Given the description of an element on the screen output the (x, y) to click on. 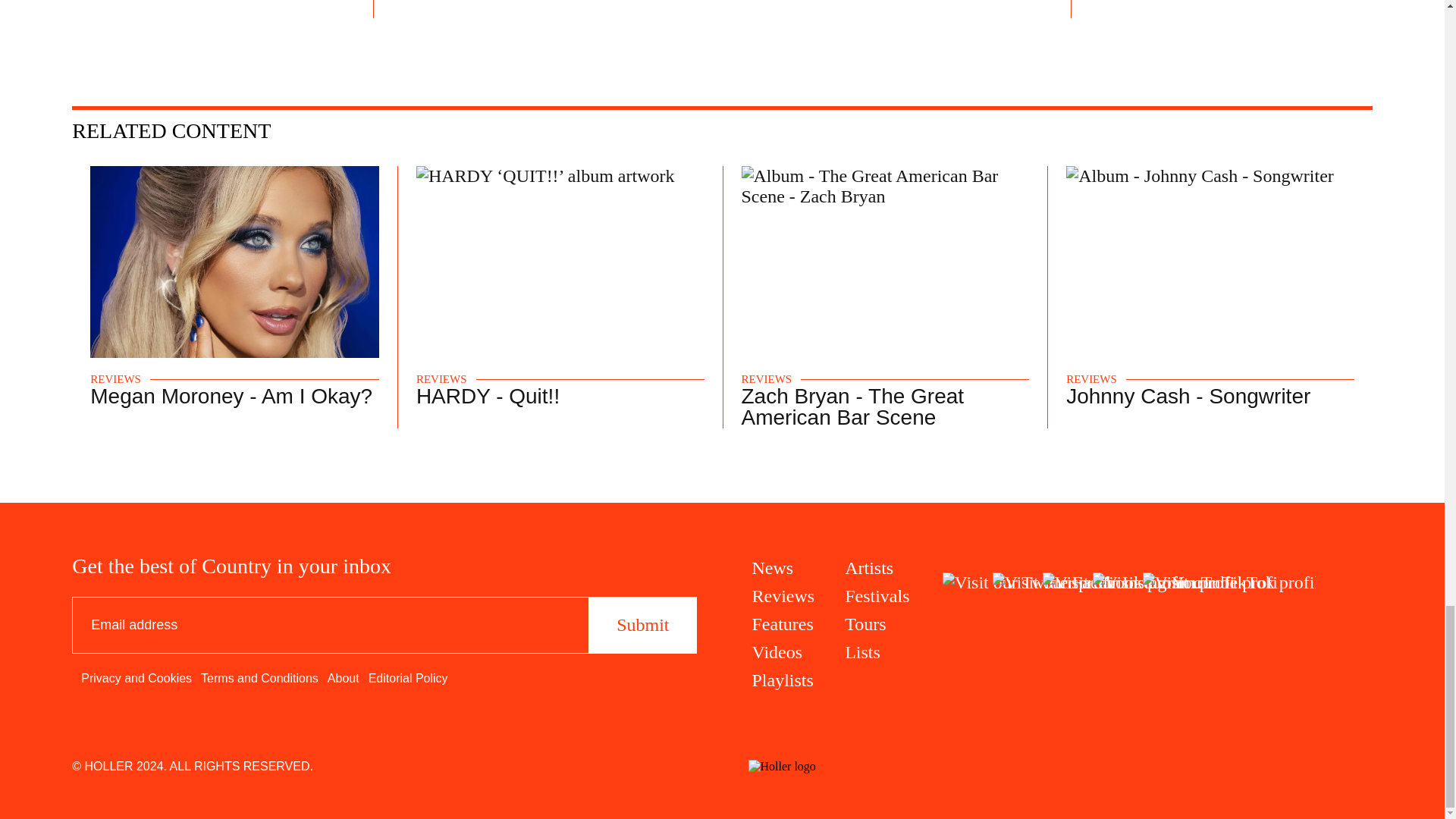
Videos (783, 652)
Submit (642, 625)
REVIEWS (115, 379)
Zach Bryan - The Great American Bar Scene (852, 406)
News (783, 567)
Privacy and Cookies (136, 678)
Features (783, 624)
Johnny Cash - Songwriter (1187, 395)
Terms and Conditions (553, 2)
